Given the description of an element on the screen output the (x, y) to click on. 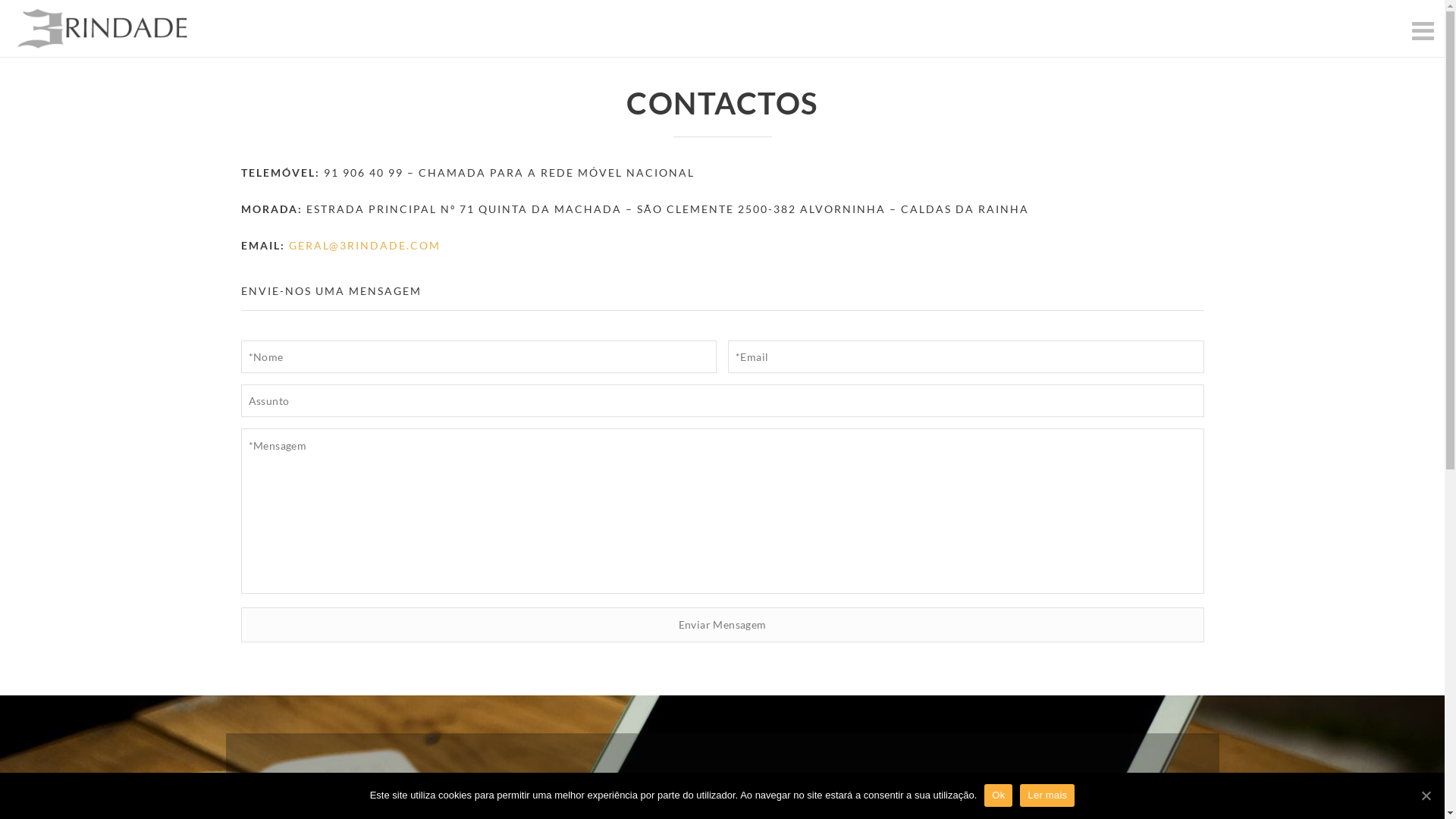
Ler mais Element type: text (1046, 795)
Enviar Mensagem Element type: text (722, 624)
Ok Element type: text (998, 795)
GERAL@3RINDADE.COM Element type: text (363, 244)
